Given the description of an element on the screen output the (x, y) to click on. 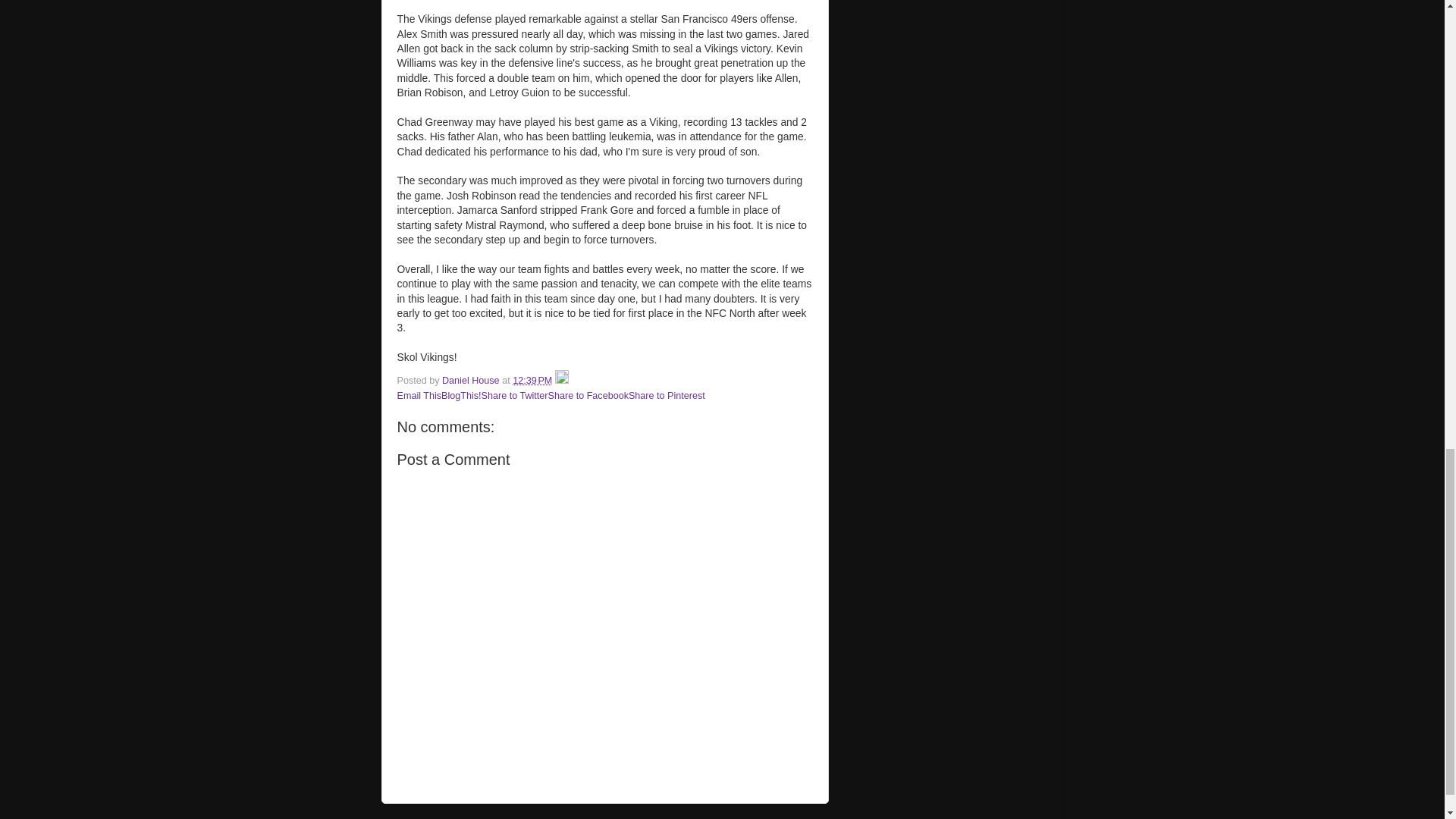
Edit Post (561, 380)
BlogThis! (461, 395)
Share to Facebook (588, 395)
Share to Pinterest (666, 395)
Share to Twitter (514, 395)
Email This (419, 395)
Share to Twitter (514, 395)
BlogThis! (461, 395)
Share to Pinterest (666, 395)
Daniel House (472, 380)
